Given the description of an element on the screen output the (x, y) to click on. 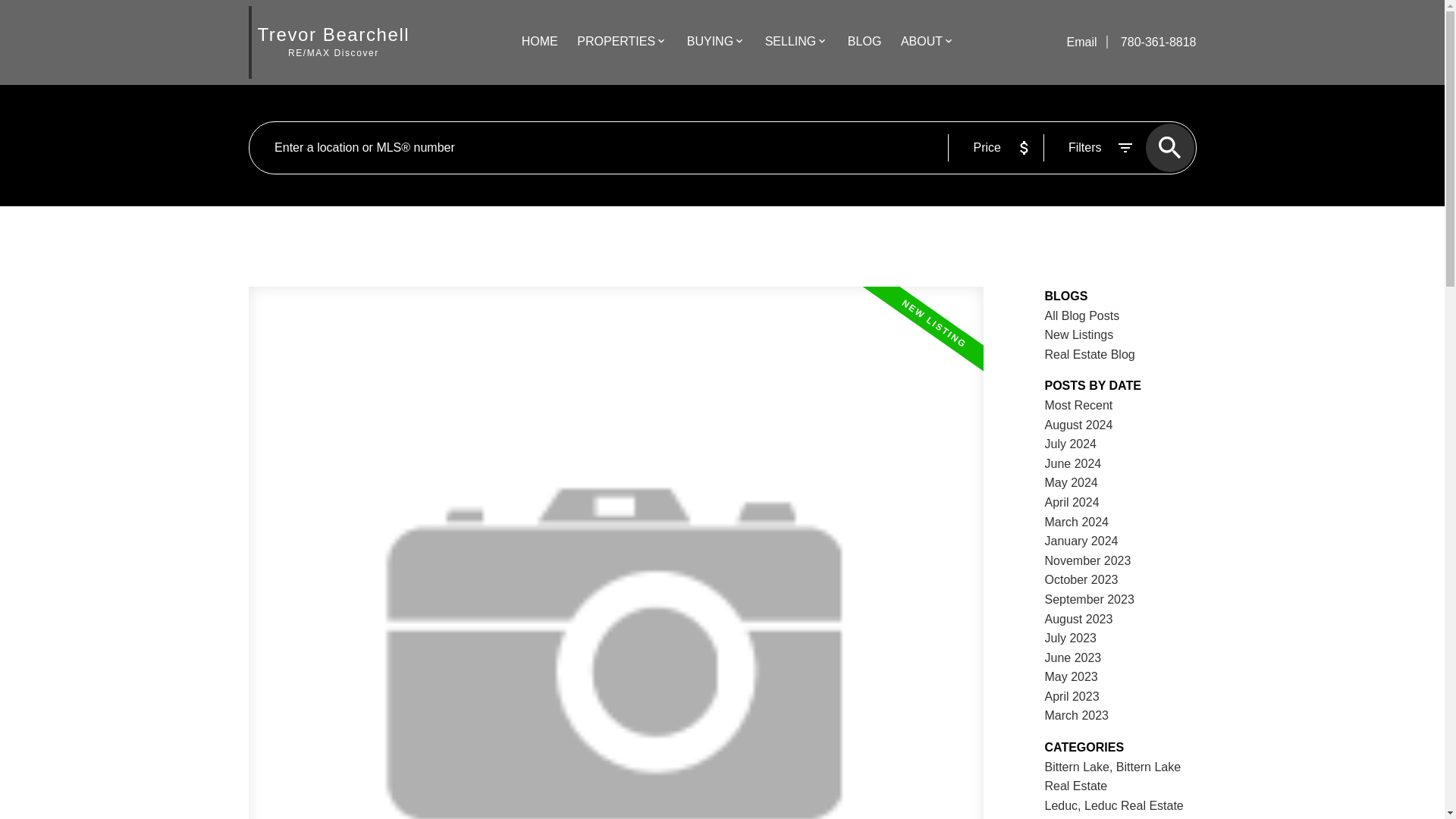
April 2024 (1072, 502)
New Listings (1079, 334)
October 2023 (1081, 579)
January 2024 (1081, 540)
Most Recent (1079, 404)
BUYING (710, 42)
ABOUT (921, 42)
Email (1082, 42)
March 2024 (1077, 521)
SELLING (790, 42)
